Given the description of an element on the screen output the (x, y) to click on. 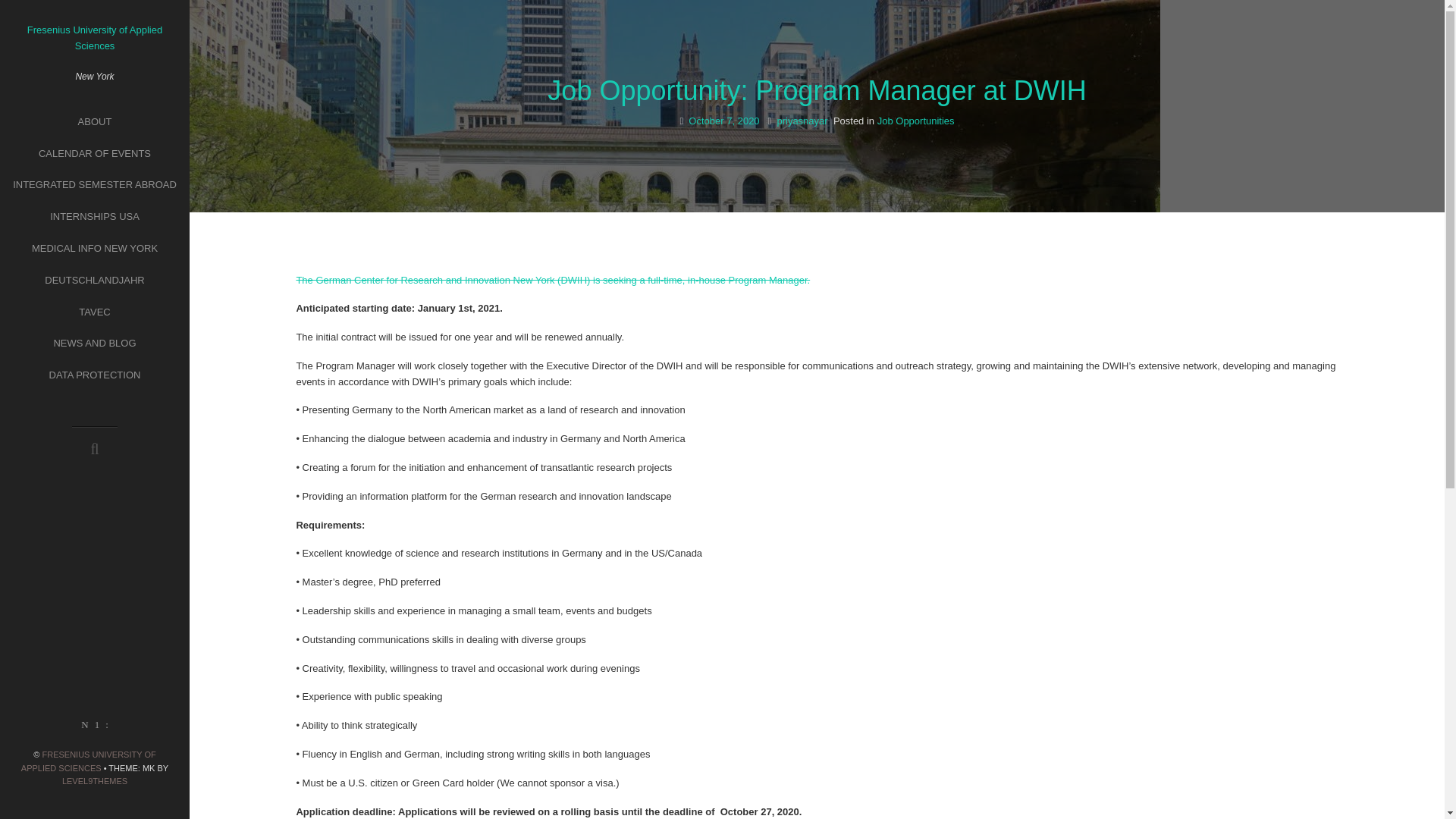
NEWS AND BLOG (94, 343)
INTEGRATED SEMESTER ABROAD (94, 184)
ABOUT (94, 122)
October 7, 2020 (723, 120)
CALENDAR OF EVENTS (94, 153)
MEDICAL INFO NEW YORK (94, 248)
FRESENIUS UNIVERSITY OF APPLIED SCIENCES (88, 761)
Job Opportunity: Program Manager at DWIH (816, 90)
LEVEL9THEMES (95, 780)
priyasnayar (801, 120)
Fresenius University of Applied Sciences (94, 37)
DEUTSCHLANDJAHR (94, 280)
TAVEC (94, 312)
Job Opportunities (916, 120)
INTERNSHIPS USA (94, 216)
